Given the description of an element on the screen output the (x, y) to click on. 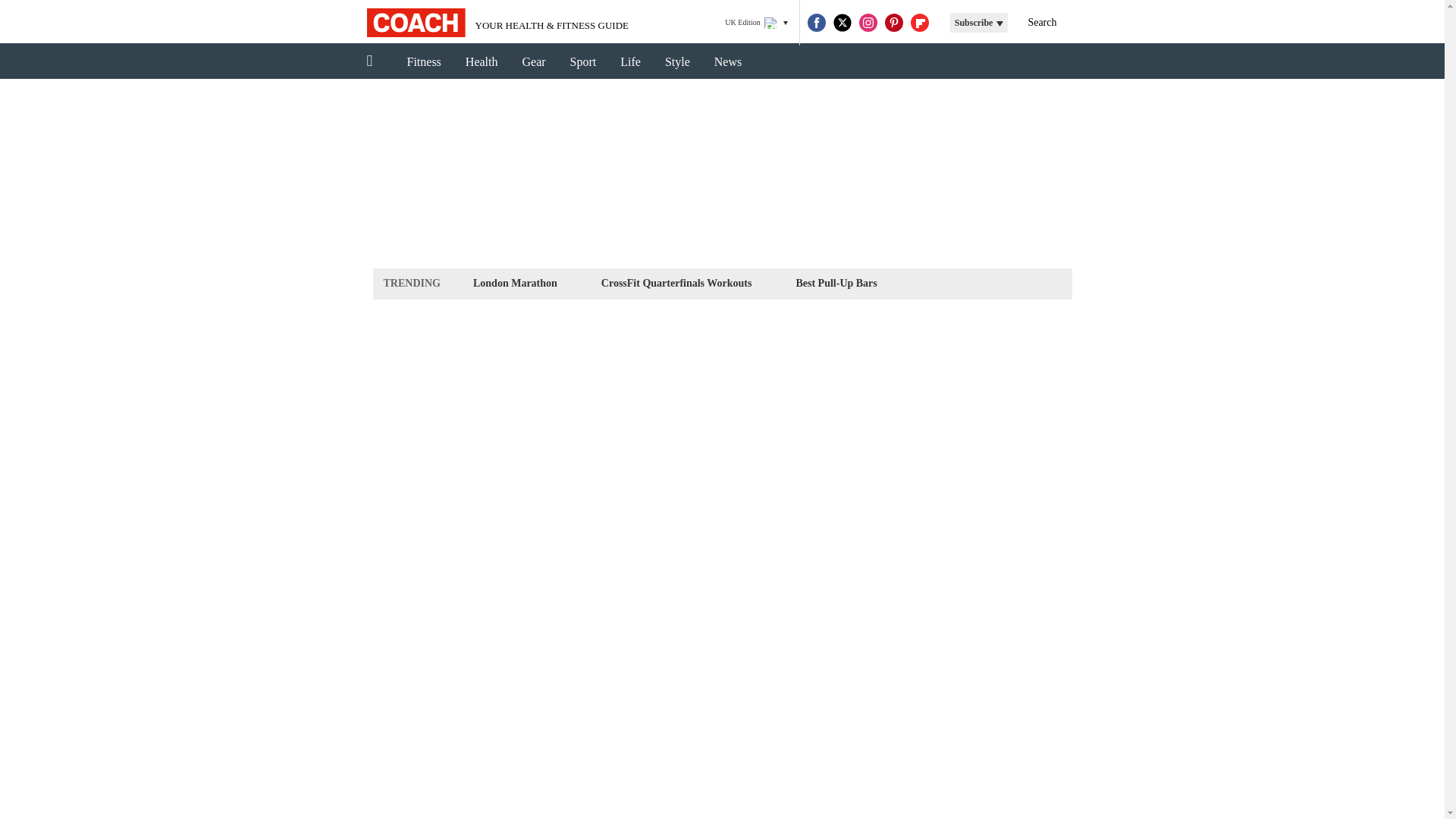
Life (630, 61)
Fitness (423, 61)
Health (481, 61)
London Marathon (514, 282)
Sport (582, 61)
Gear (533, 61)
UK Edition (755, 22)
Style (676, 61)
CrossFit Quarterfinals Workouts (676, 282)
Best Pull-Up Bars (836, 282)
News (727, 61)
